Given the description of an element on the screen output the (x, y) to click on. 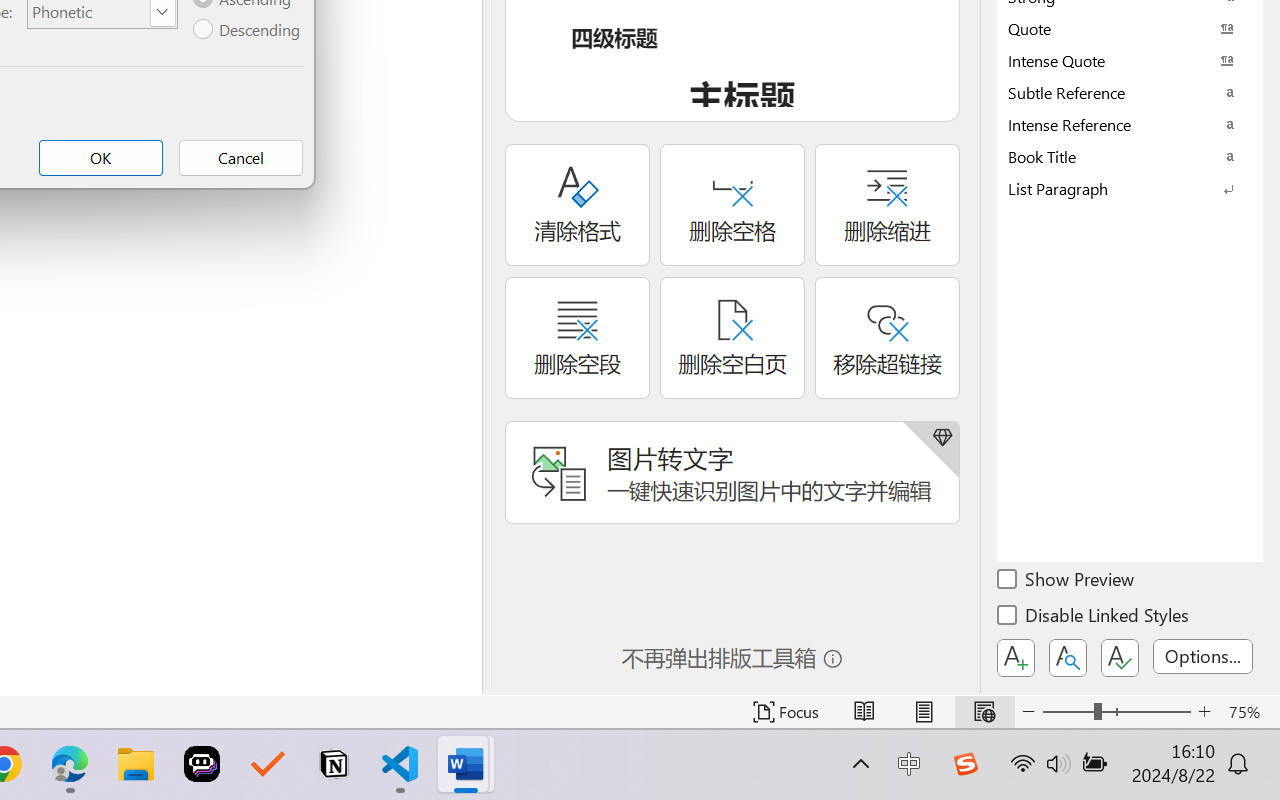
Zoom (1116, 712)
Web Layout (984, 712)
Quote (1130, 28)
Class: NetUIButton (1119, 657)
Zoom In (1204, 712)
